Given the description of an element on the screen output the (x, y) to click on. 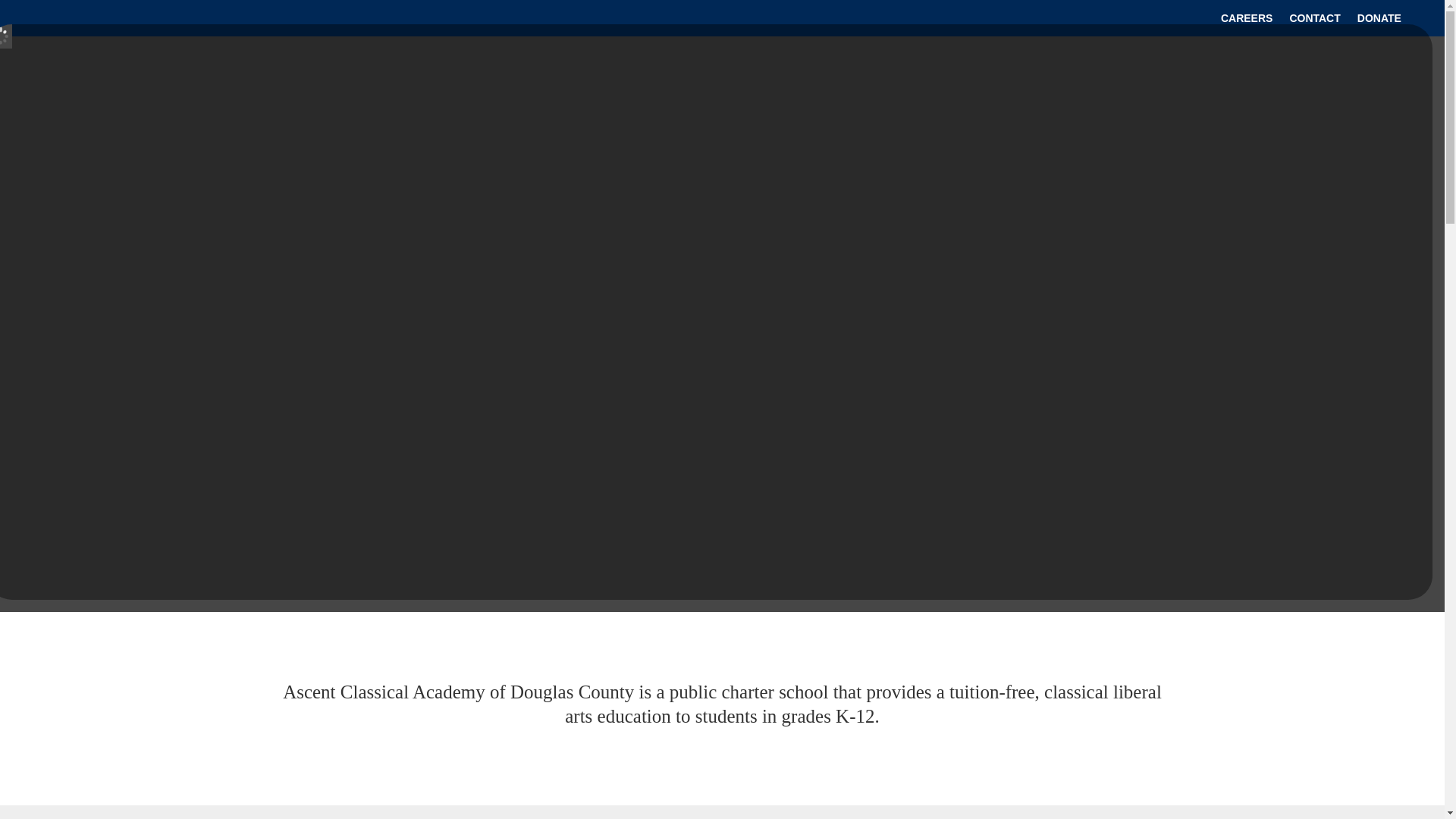
CONTACT (1313, 21)
DONATE (1378, 21)
CAREERS (1246, 21)
